Given the description of an element on the screen output the (x, y) to click on. 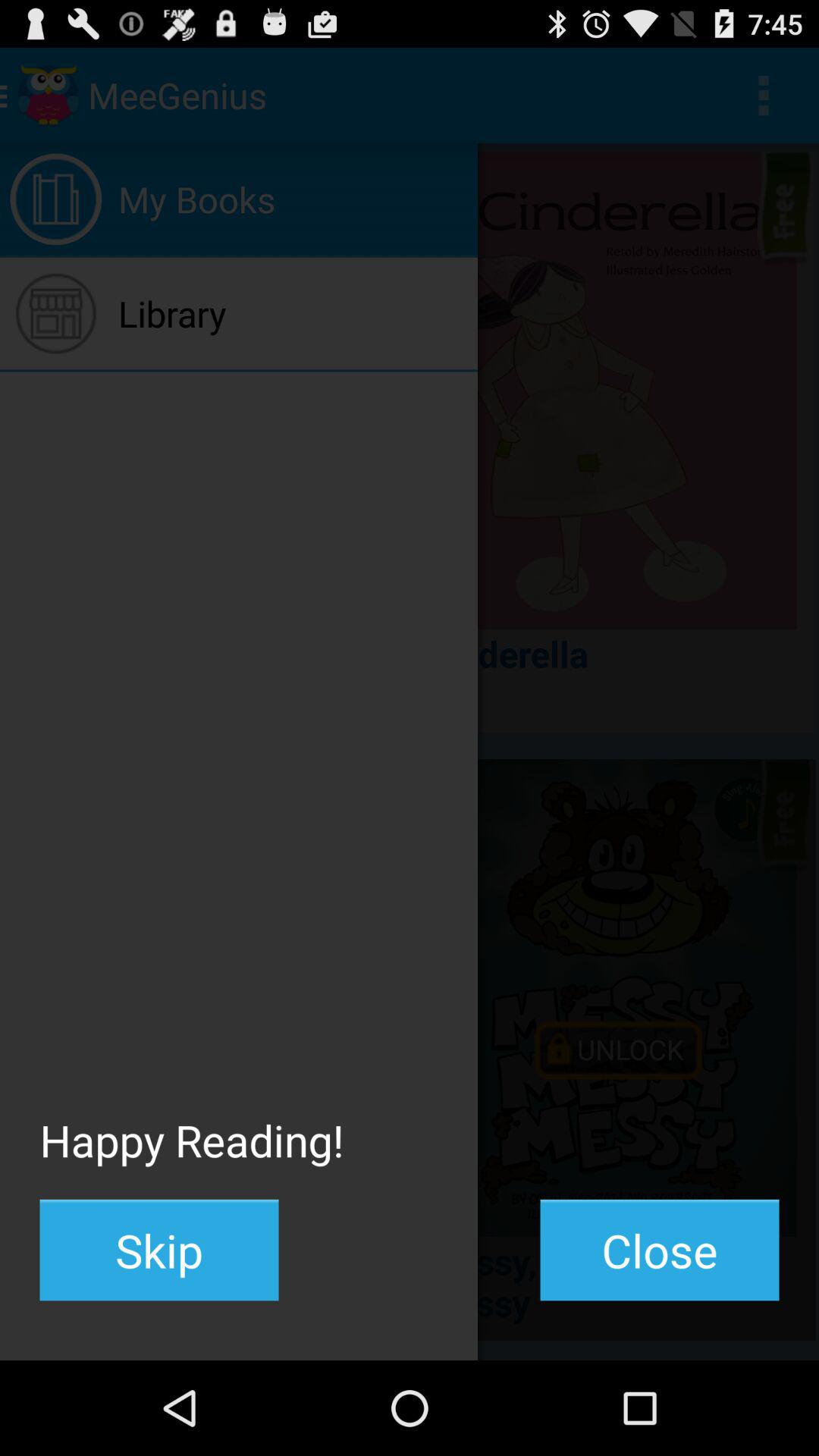
turn on the button to the left of close button (158, 1249)
